Given the description of an element on the screen output the (x, y) to click on. 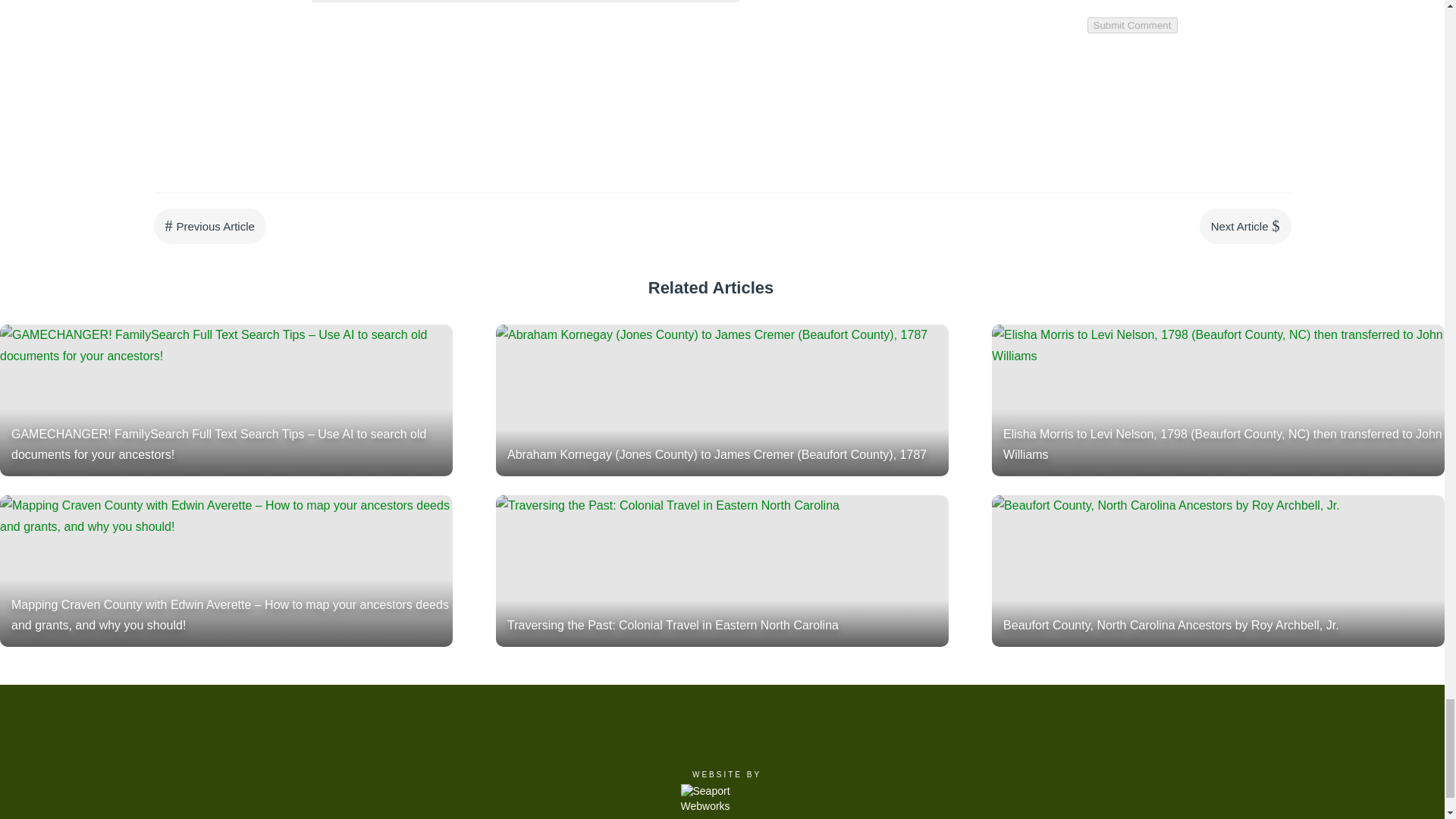
Seaport Webworks (722, 798)
Submit Comment (1132, 25)
